Given the description of an element on the screen output the (x, y) to click on. 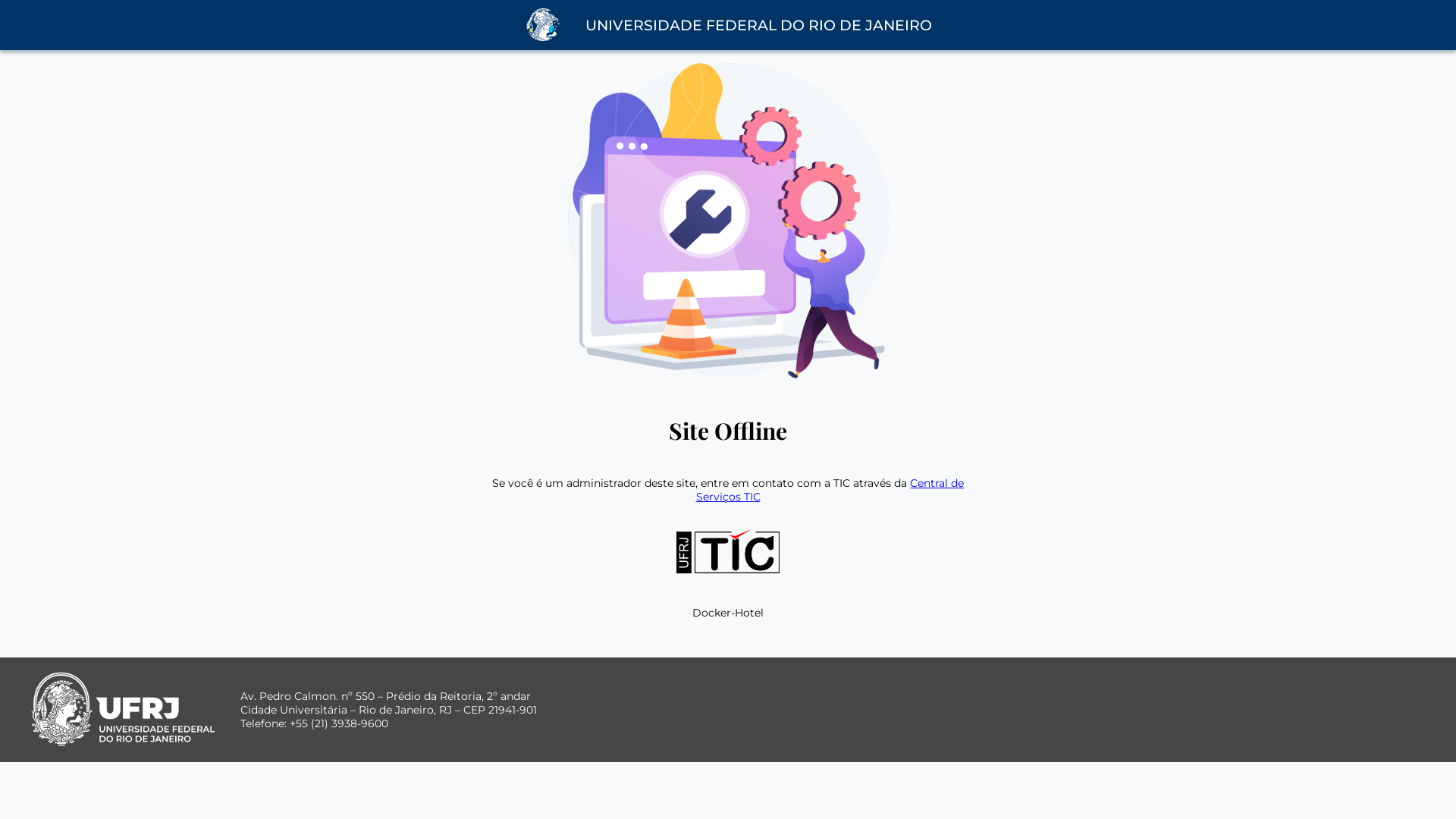
UNIVERSIDADE FEDERAL DO RIO DE JANEIRO Element type: text (758, 25)
